Given the description of an element on the screen output the (x, y) to click on. 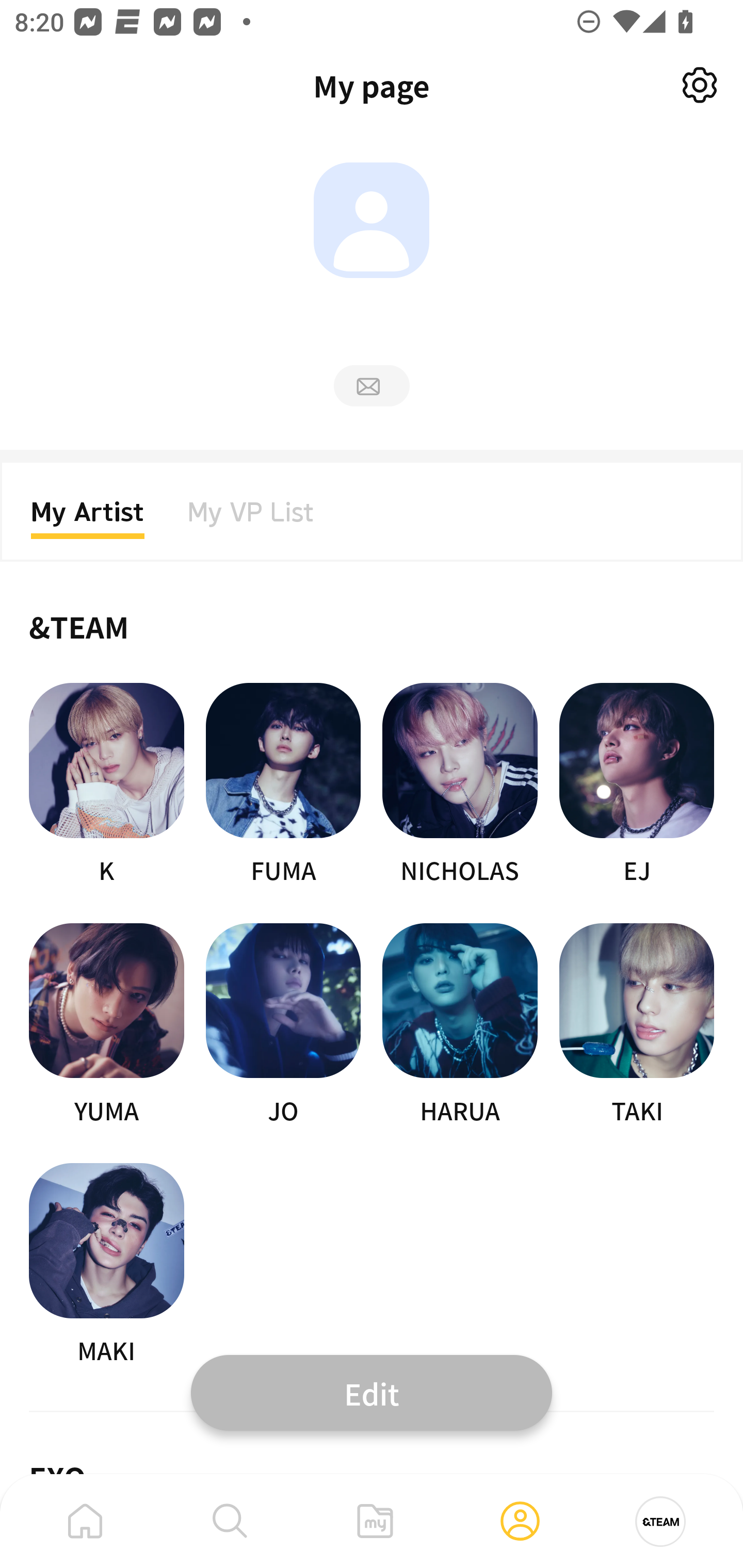
My Artist (87, 517)
My VP List (250, 517)
K (106, 785)
FUMA (282, 785)
NICHOLAS (459, 785)
EJ (636, 785)
YUMA (106, 1025)
JO (282, 1025)
HARUA (459, 1025)
TAKI (636, 1025)
MAKI (106, 1265)
Edit (371, 1392)
